Given the description of an element on the screen output the (x, y) to click on. 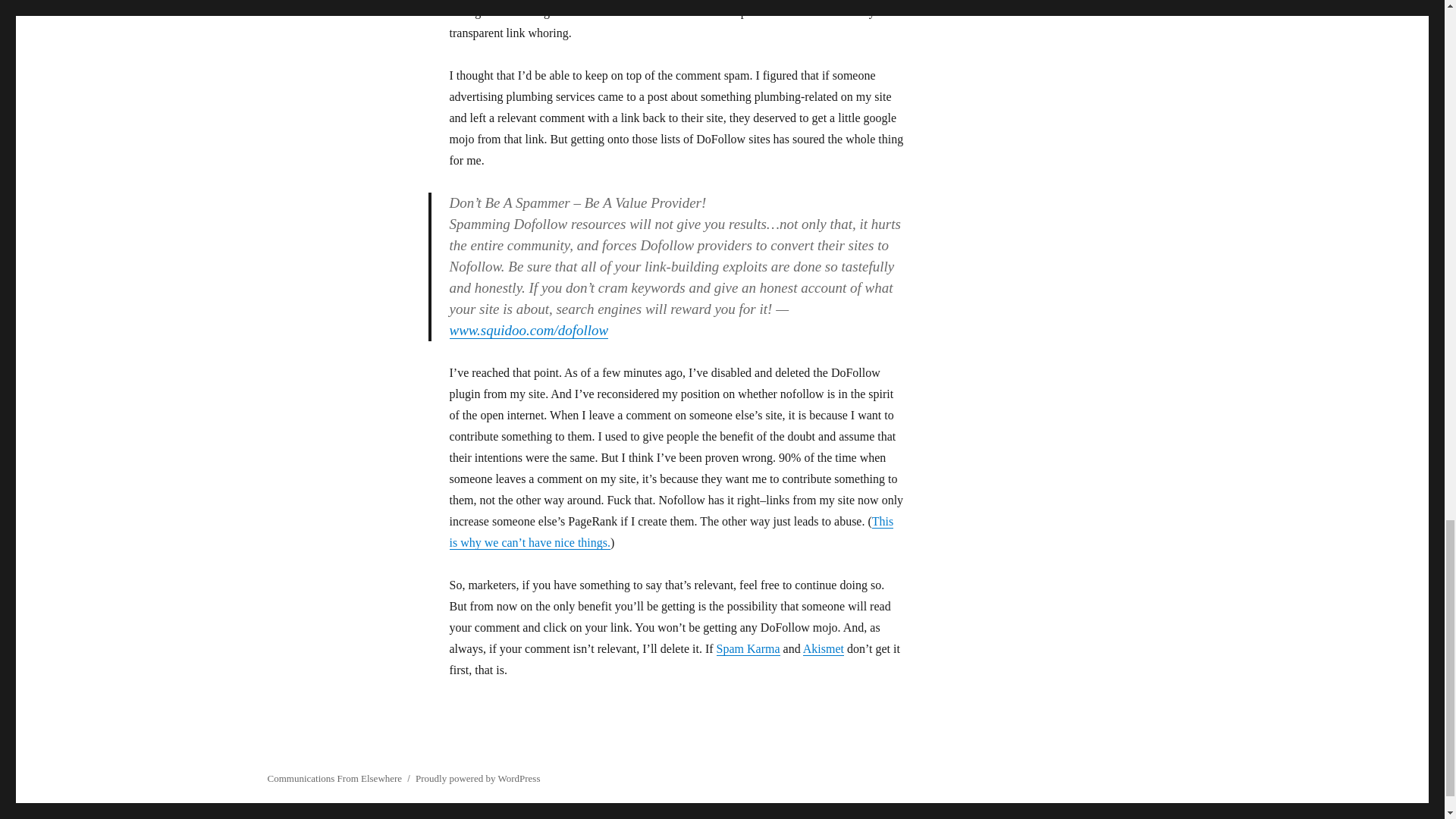
Akismet (823, 648)
Spam Karma (748, 648)
